Given the description of an element on the screen output the (x, y) to click on. 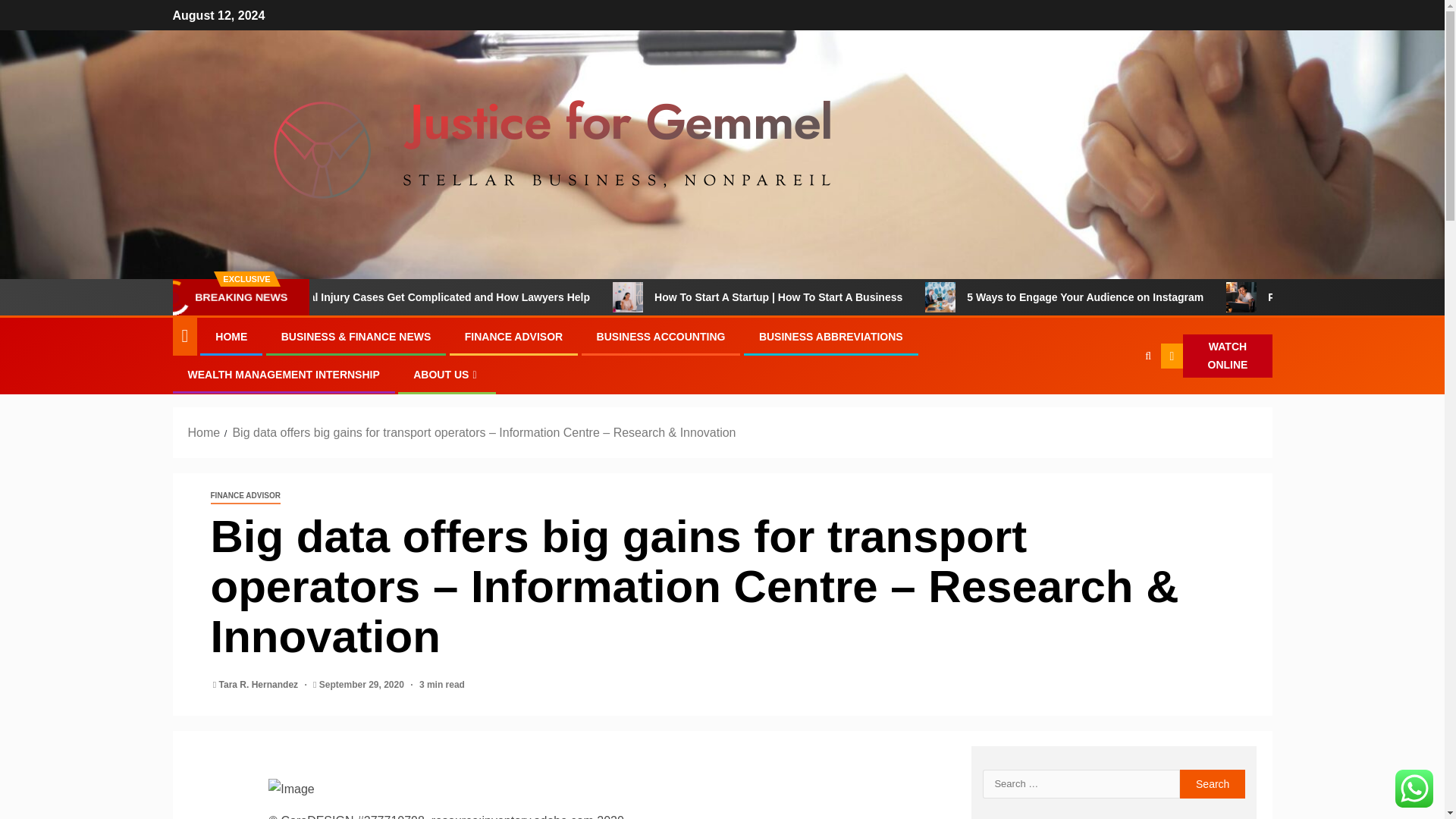
Search (1117, 402)
5 Ways to Engage Your Audience on Instagram (1179, 296)
WATCH ONLINE (1216, 356)
Search (1212, 783)
Tara R. Hernandez (260, 684)
BUSINESS ACCOUNTING (660, 336)
Home (204, 431)
Search (1212, 783)
BUSINESS ABBREVIATIONS (830, 336)
FINANCE ADVISOR (513, 336)
